Given the description of an element on the screen output the (x, y) to click on. 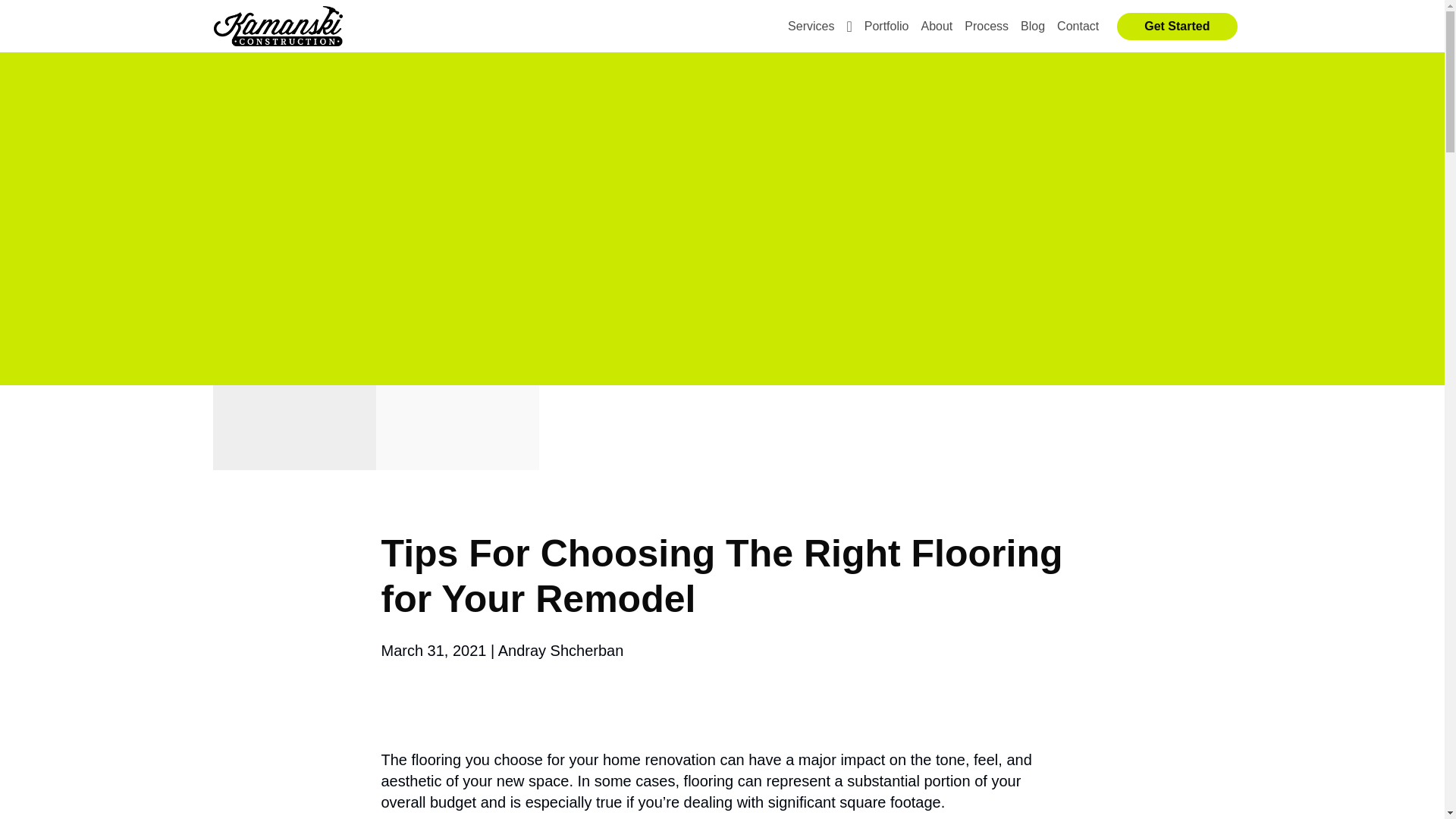
Blog (1032, 25)
Process (986, 25)
Portfolio (887, 25)
Get Started (1176, 25)
Contact (1078, 25)
About (936, 25)
Services (820, 25)
